Given the description of an element on the screen output the (x, y) to click on. 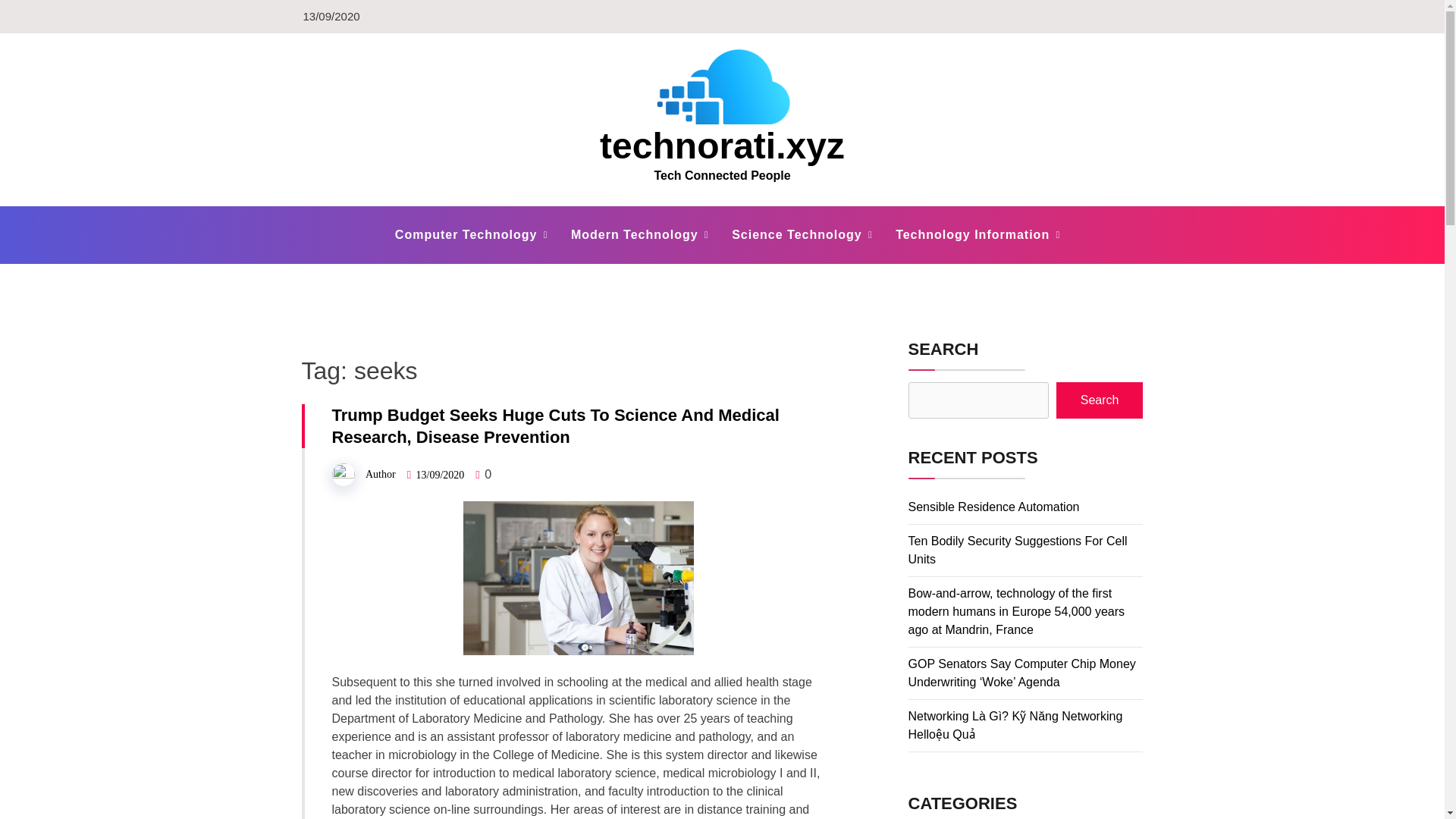
Author (380, 473)
Technology Information (972, 234)
technorati.xyz (721, 146)
Modern Technology (634, 234)
technorati.xyz (721, 146)
Science Technology (796, 234)
Computer Technology (466, 234)
